Given the description of an element on the screen output the (x, y) to click on. 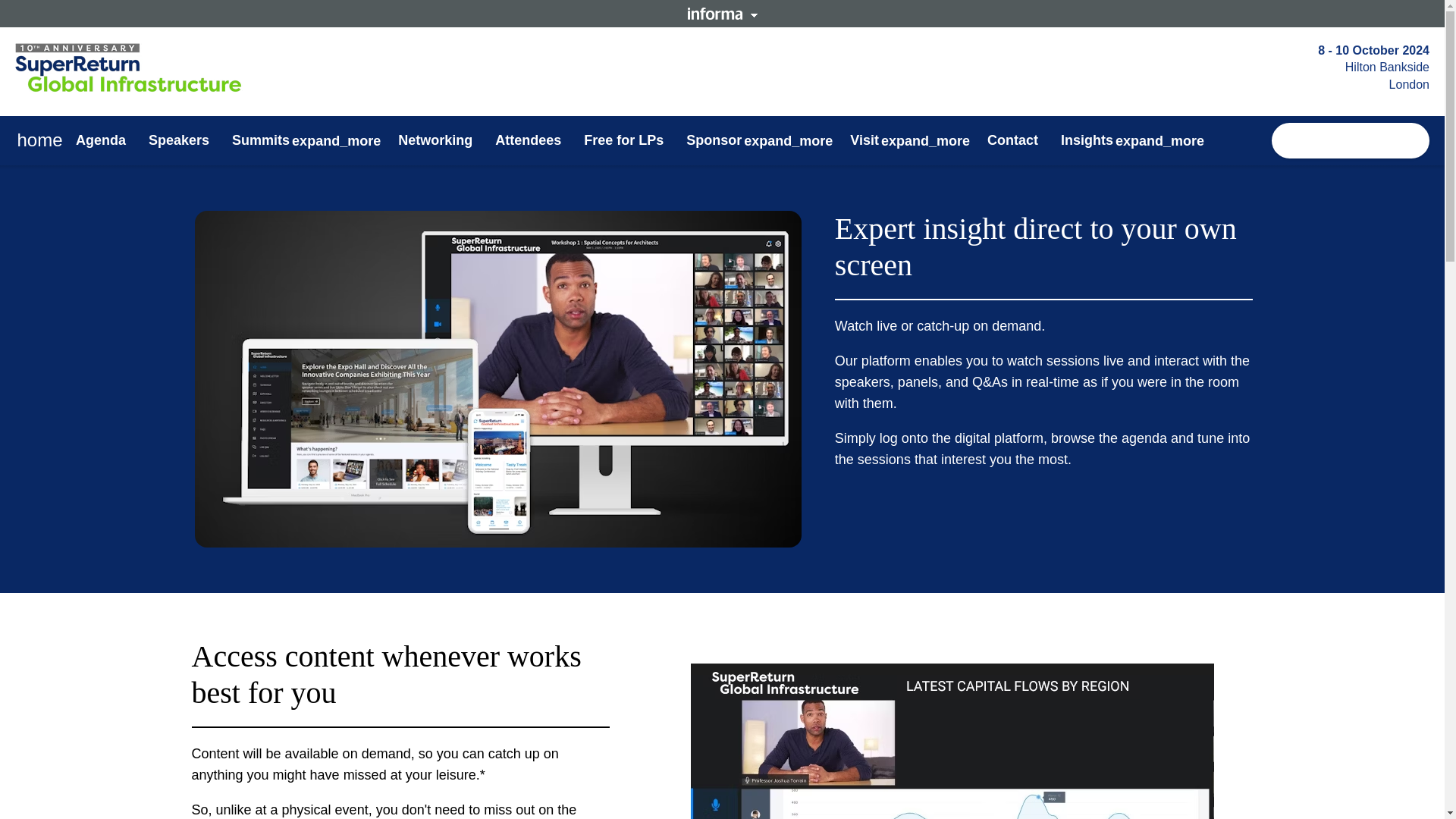
Speakers (178, 140)
Networking (435, 140)
Book Now (1350, 140)
home (39, 140)
Free for LPs (623, 140)
Attendees (527, 140)
Agenda (100, 140)
Contact (1012, 140)
